Given the description of an element on the screen output the (x, y) to click on. 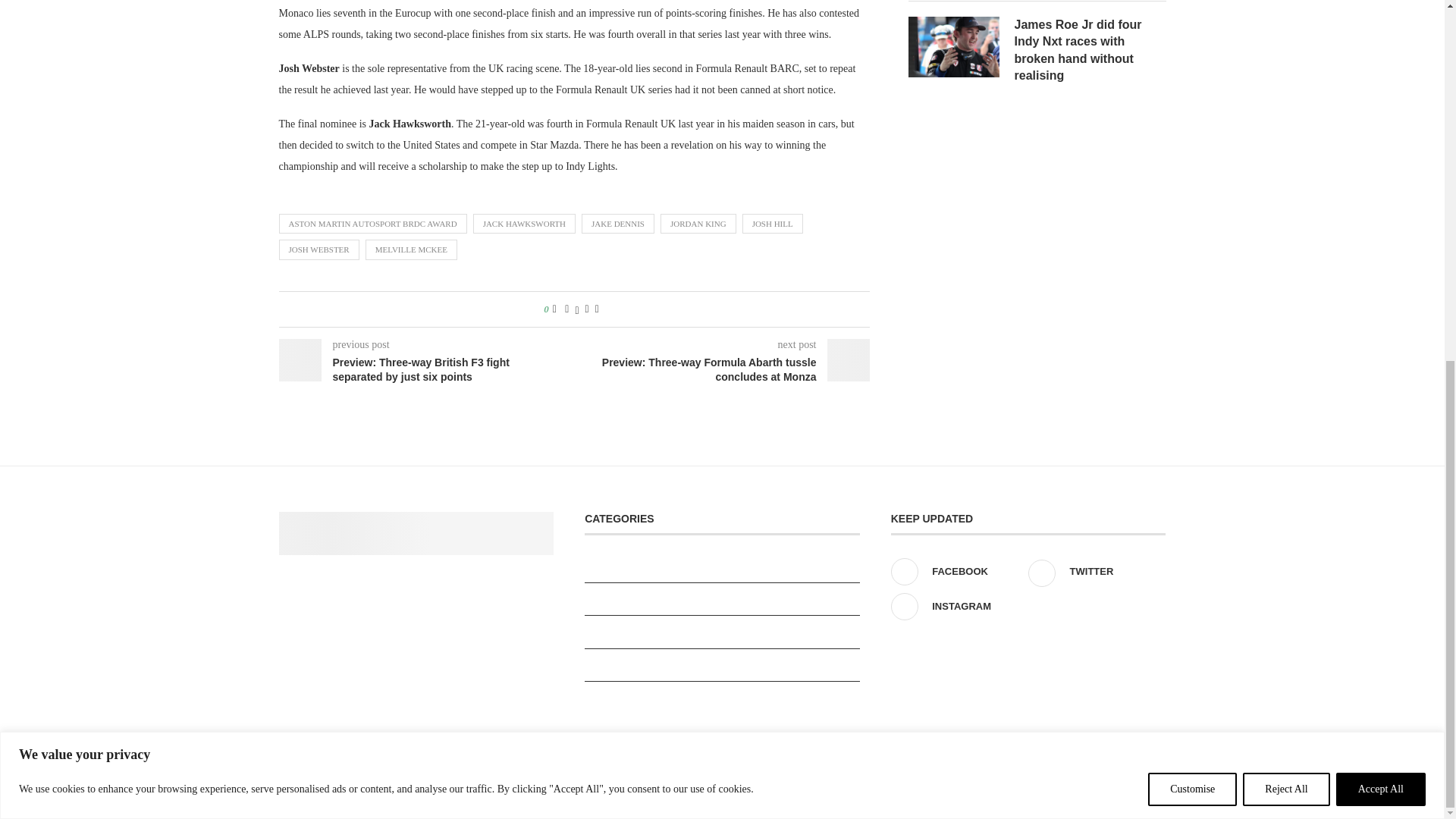
ASTON MARTIN AUTOSPORT BRDC AWARD (373, 223)
JACK HAWKSWORTH (524, 223)
Accept All (1380, 146)
Reject All (1286, 146)
Customise (1192, 146)
